Given the description of an element on the screen output the (x, y) to click on. 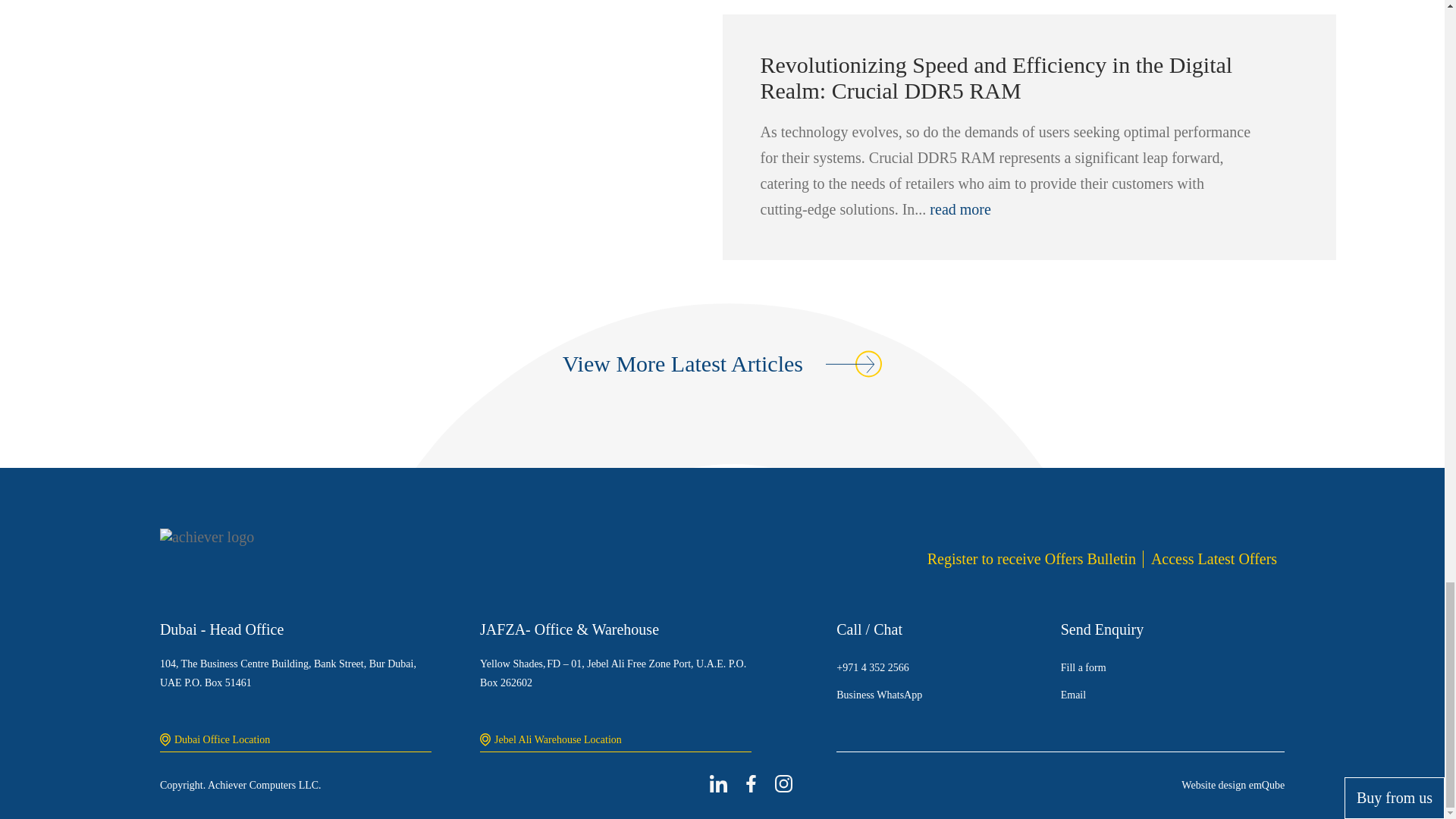
Jebel Ali Warehouse Location (615, 739)
Access Latest Offers (1213, 559)
Email (1172, 695)
read more (960, 208)
emQube (1266, 784)
Business WhatsApp (947, 695)
Fill a form (1172, 667)
View More Latest Articles (722, 363)
Dubai Office Location (295, 739)
Register to receive Offers Bulletin (1034, 559)
